Given the description of an element on the screen output the (x, y) to click on. 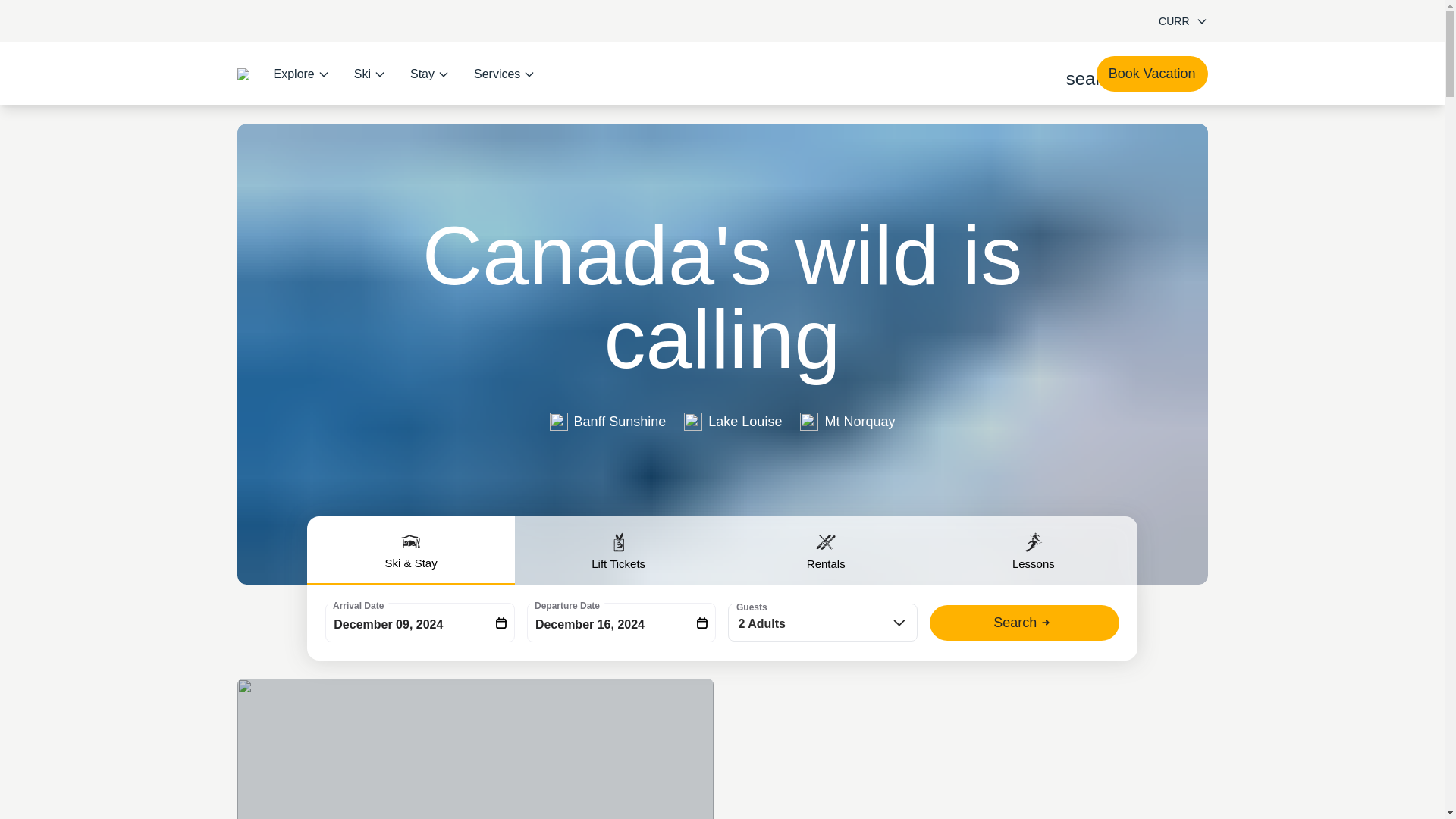
Rentals (826, 550)
Book Vacation (1152, 73)
December 09, 2024 (419, 622)
Search (1024, 622)
December 16, 2024 (621, 622)
Book Vacation (1152, 73)
Lessons (1033, 550)
Search (1024, 622)
search (1074, 74)
Lift Tickets (618, 550)
